Given the description of an element on the screen output the (x, y) to click on. 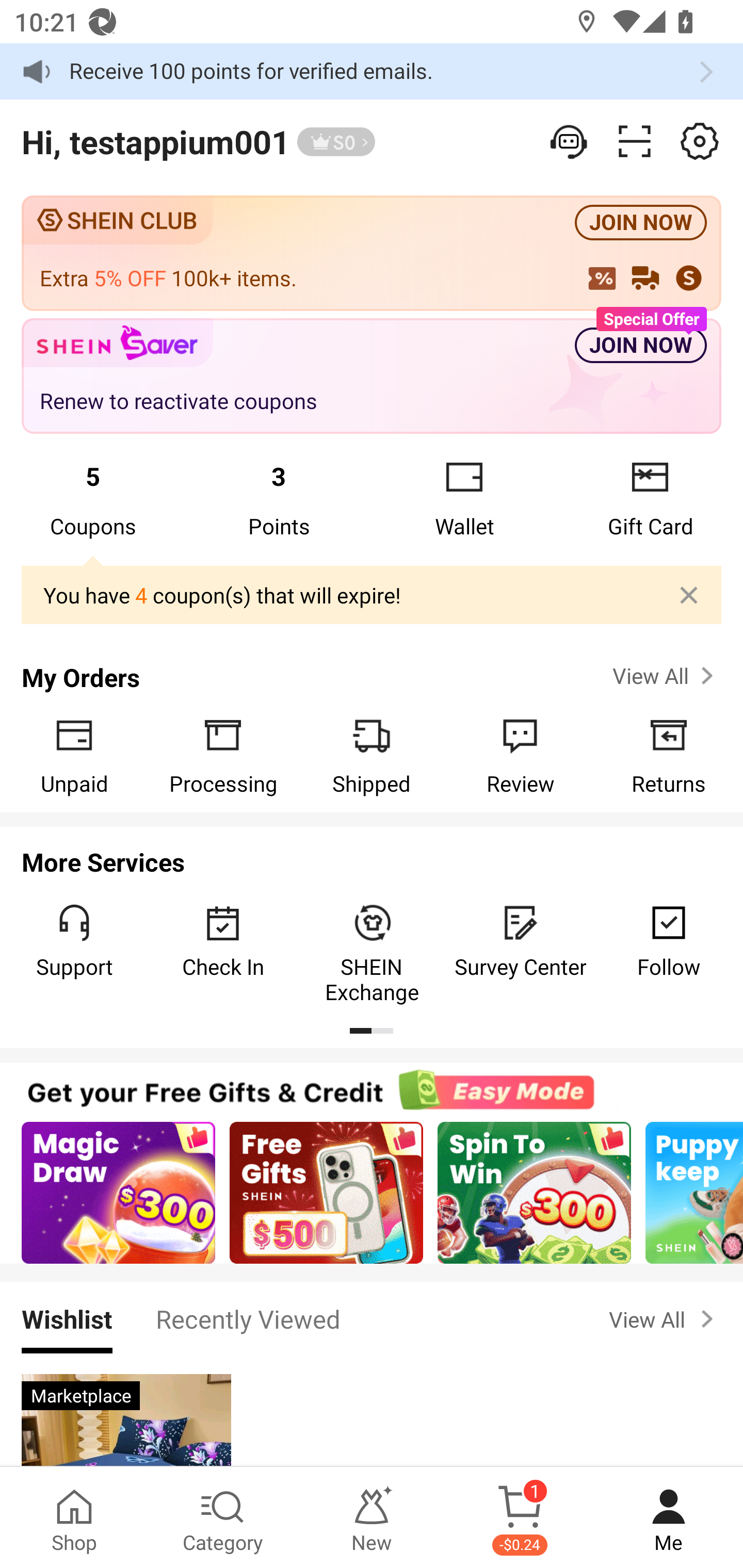
Receive 100 points for verified emails. (371, 70)
Hi, testappium001 (155, 141)
Setting (569, 141)
Scan QR Code (634, 141)
Setting (699, 141)
SHEIN VIP (336, 141)
JOIN NOW Extra 5% OFF 100k+ items. (371, 253)
JOIN NOW (640, 222)
Renew to reactivate coupons JOIN NOW Special Offer (371, 376)
JOIN NOW (640, 345)
5 Coupons 3 Points Wallet Gift Card (371, 497)
3 Points (278, 497)
Wallet (464, 497)
Gift Card (650, 497)
You have 4 coupon(s) that will expire! Close (371, 596)
Close (688, 594)
View All (664, 675)
Unpaid (74, 754)
Processing (222, 754)
Shipped (371, 754)
Review (519, 754)
Returns (668, 754)
More Services (371, 855)
Support (74, 940)
Check In (222, 940)
SHEIN Exchange (371, 952)
Survey Center (519, 940)
Follow (668, 940)
Wishlist Recently Viewed View All (371, 1318)
Recently Viewed (248, 1318)
View All (664, 1319)
Shop (74, 1517)
Category (222, 1517)
New (371, 1517)
Cart 1 -$0.24 (519, 1517)
